Given the description of an element on the screen output the (x, y) to click on. 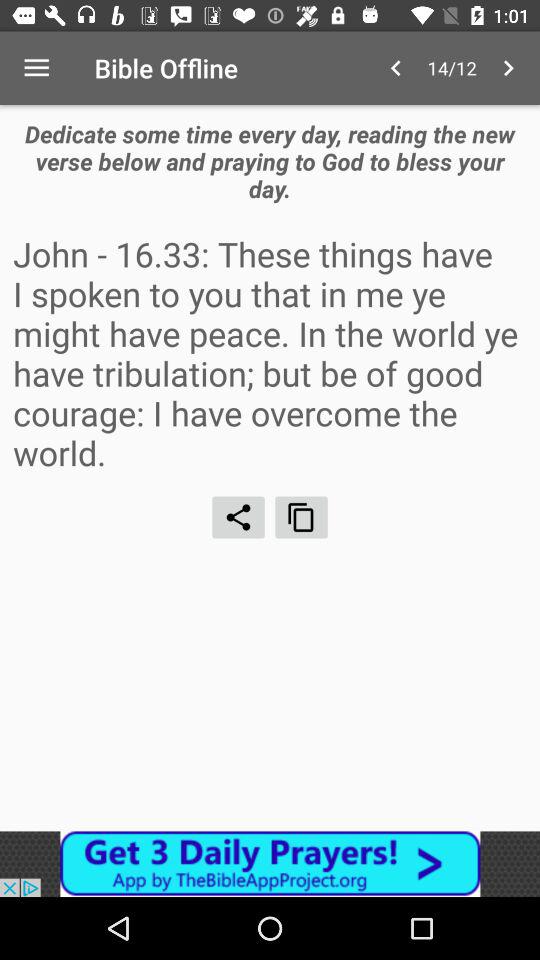
copy to clipboard (301, 517)
